Given the description of an element on the screen output the (x, y) to click on. 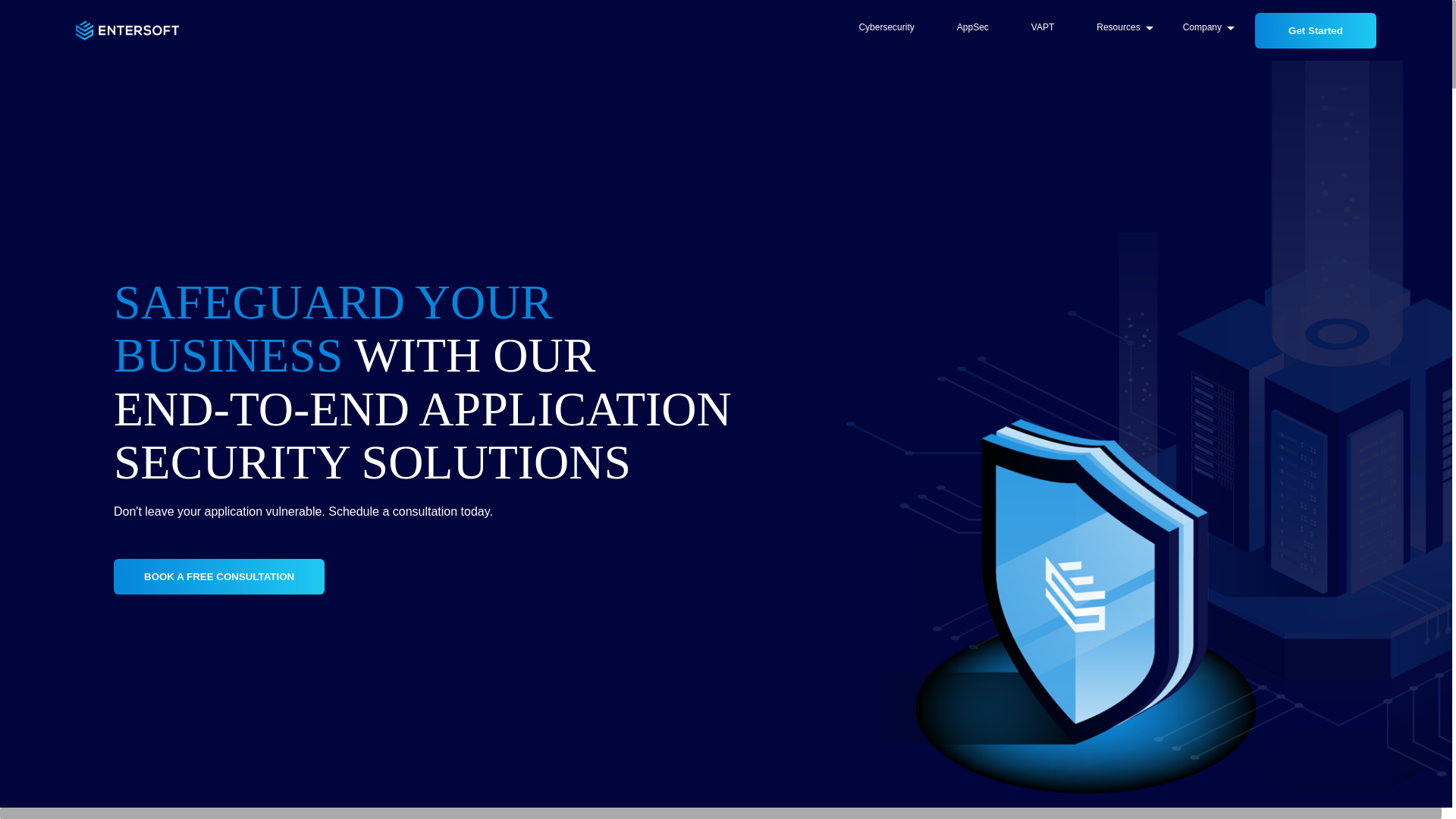
BOOK A FREE CONSULTATION Element type: text (218, 576)
Cybersecurity Element type: text (885, 29)
Resources Element type: text (1117, 29)
BOOK A FREE CONSULTATION Element type: text (218, 576)
Get Started Element type: text (1309, 29)
Company Element type: text (1202, 29)
Get Started Element type: text (1315, 29)
VAPT Element type: text (1042, 29)
AppSec Element type: text (972, 29)
